Given the description of an element on the screen output the (x, y) to click on. 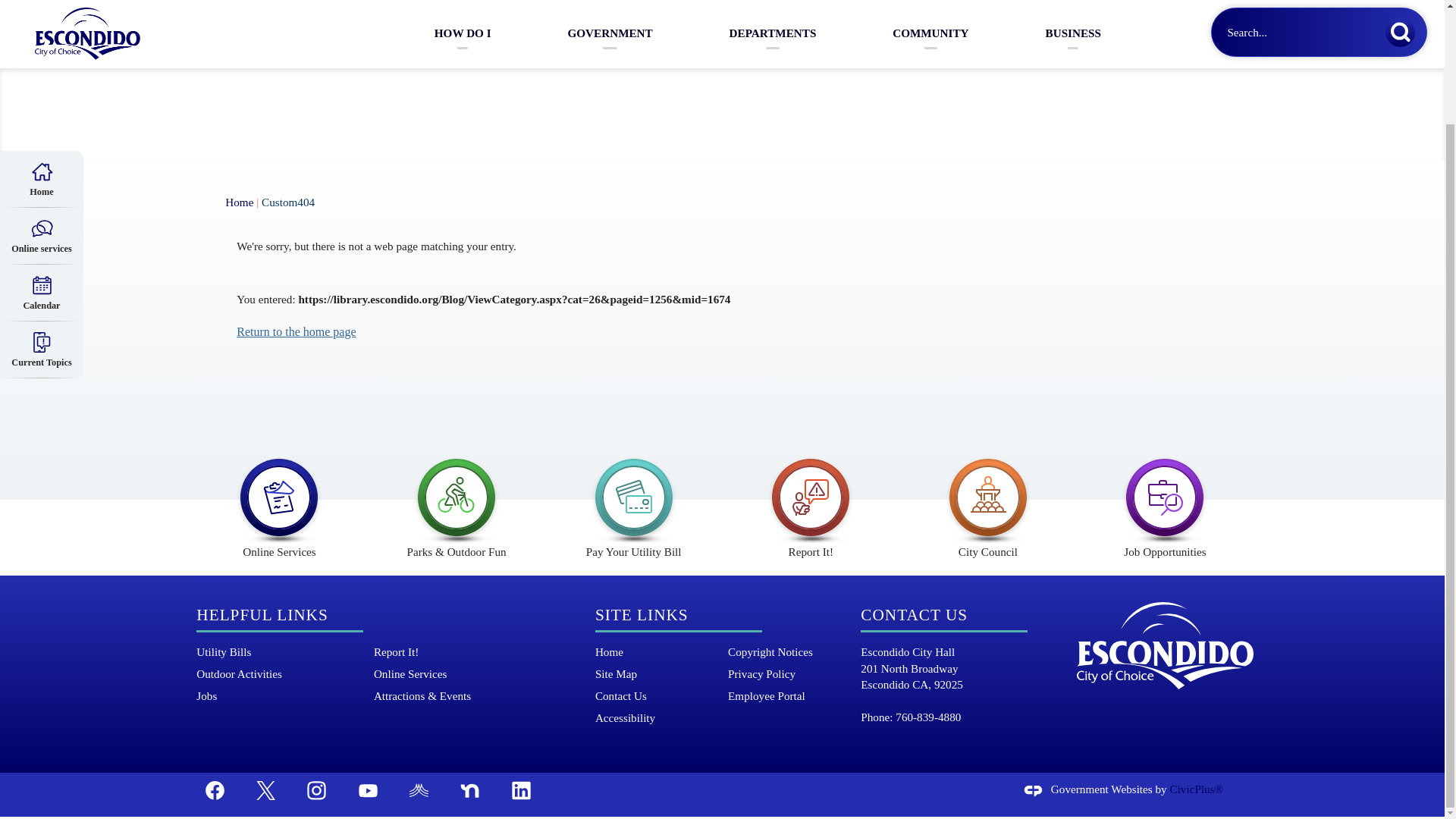
Online Services (410, 673)
Outdoor Activities (239, 673)
Home (239, 201)
Home (609, 651)
SITE LINKS (641, 615)
Jobs (206, 695)
Calendar (41, 156)
Online services (41, 100)
HELPFUL LINKS (261, 615)
City Council (988, 502)
Online Services (279, 502)
Employee Portal (766, 695)
Copyright Notices (770, 651)
Return to the home page (295, 331)
760-839-4880 (927, 716)
